Given the description of an element on the screen output the (x, y) to click on. 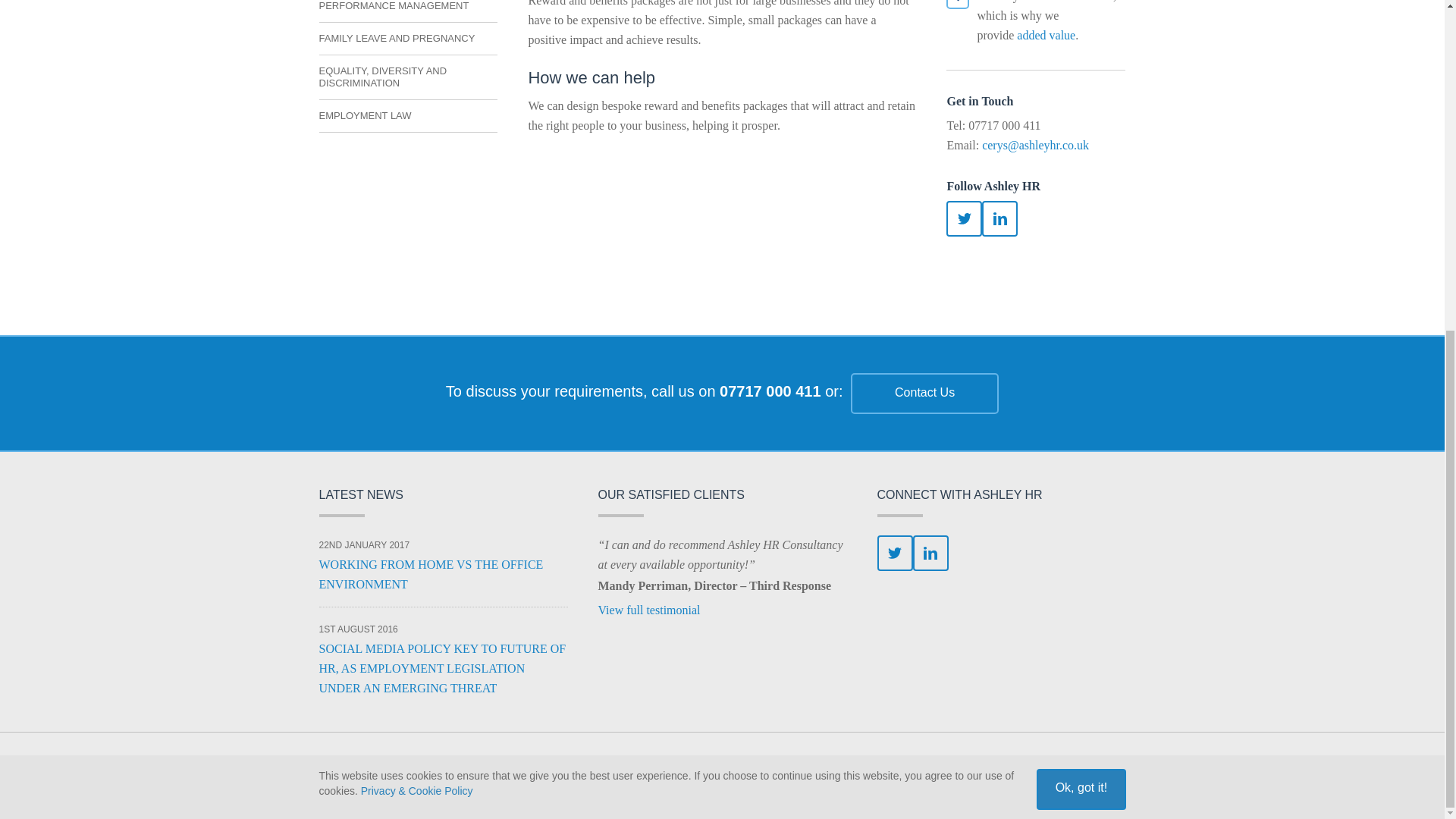
Ok, got it! (1080, 240)
